Given the description of an element on the screen output the (x, y) to click on. 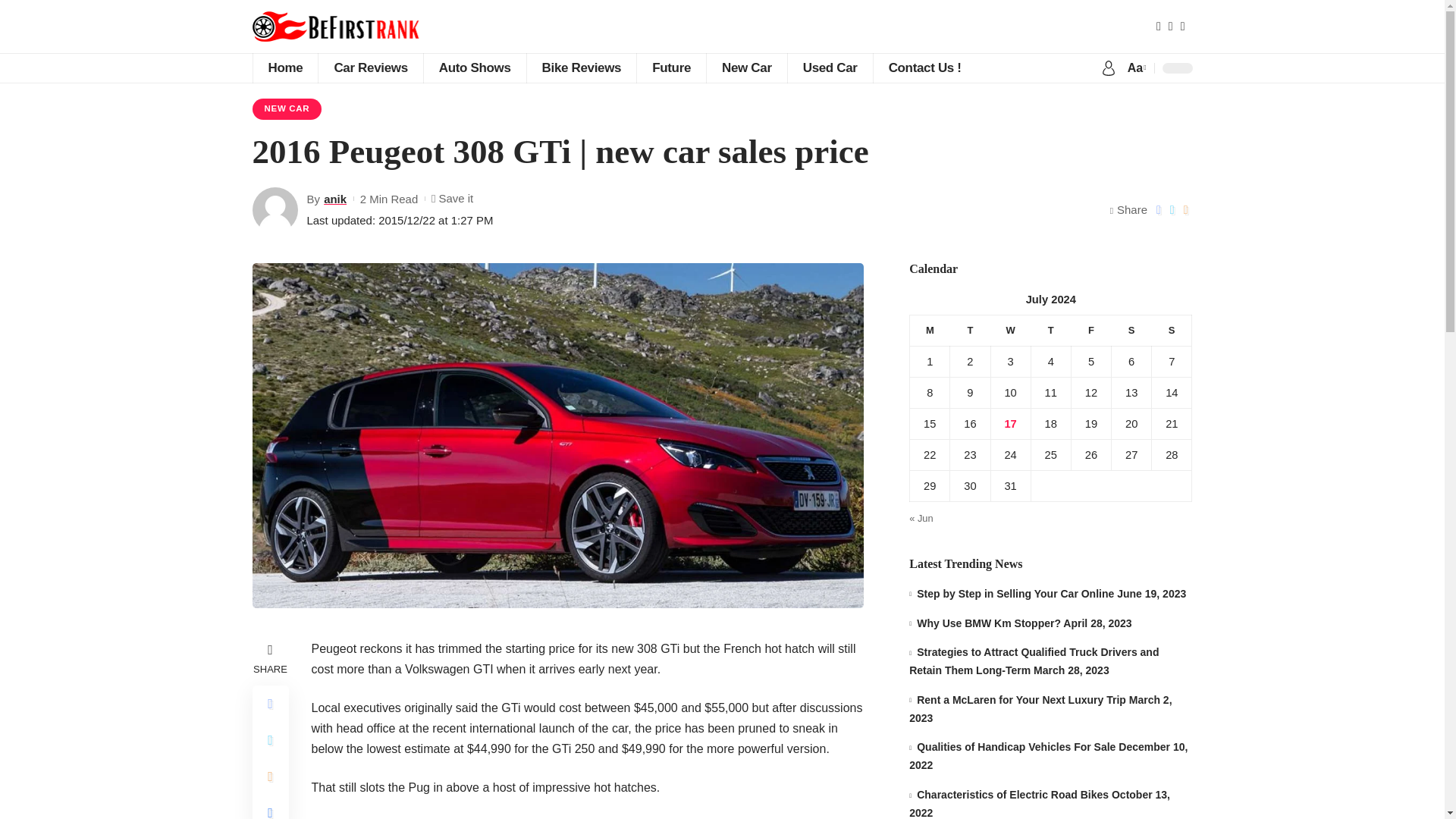
Future (671, 68)
Aa (1135, 67)
Used Car (829, 68)
Wednesday (1010, 329)
Auto Shows (474, 68)
Thursday (1050, 329)
BeFirsTrank (354, 26)
Bike Reviews (581, 68)
Friday (1090, 329)
New Car (746, 68)
Home (284, 68)
Monday (930, 329)
Car Reviews (369, 68)
Contact Us ! (924, 68)
Tuesday (970, 329)
